Given the description of an element on the screen output the (x, y) to click on. 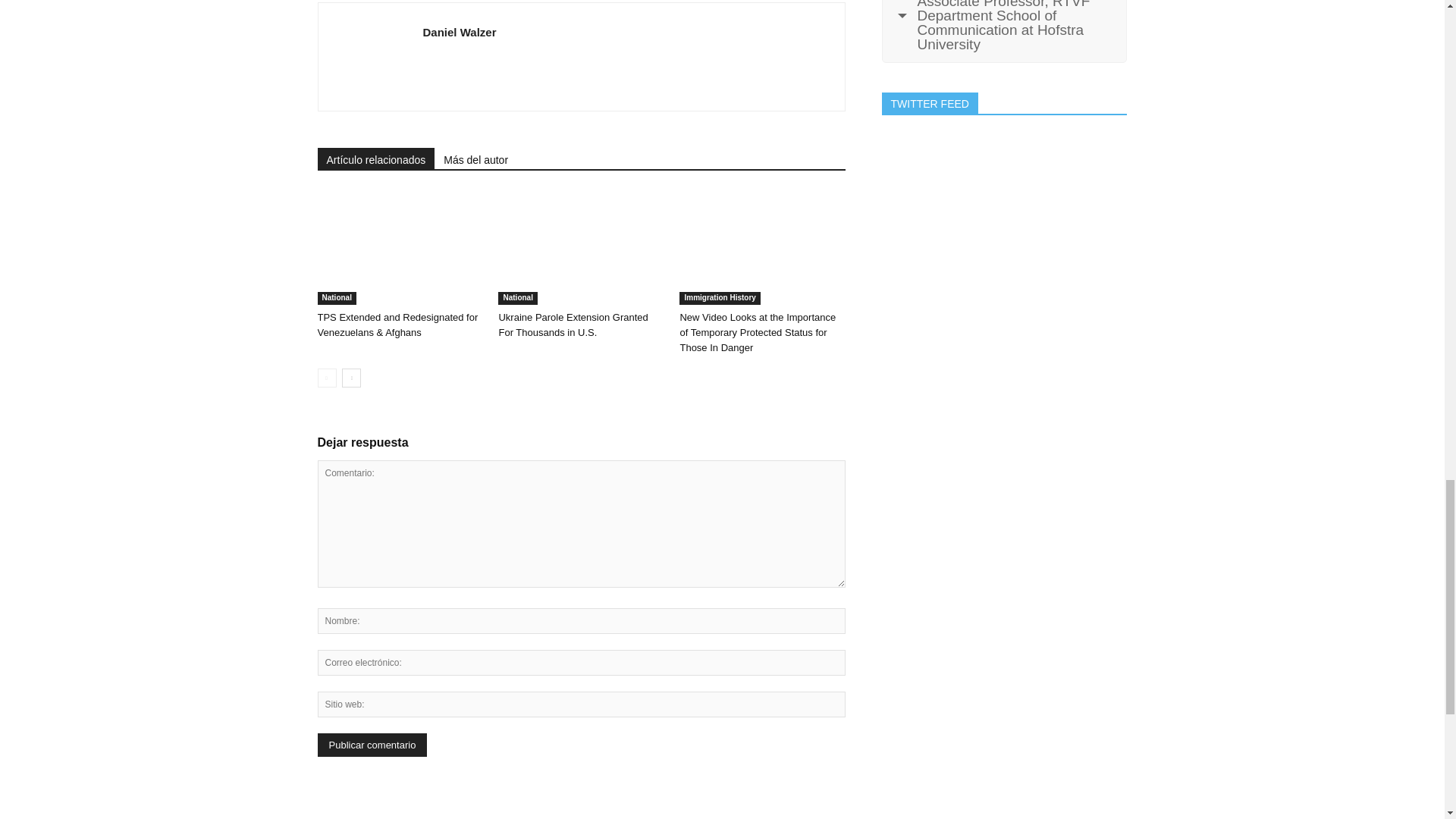
Publicar comentario (371, 744)
